Given the description of an element on the screen output the (x, y) to click on. 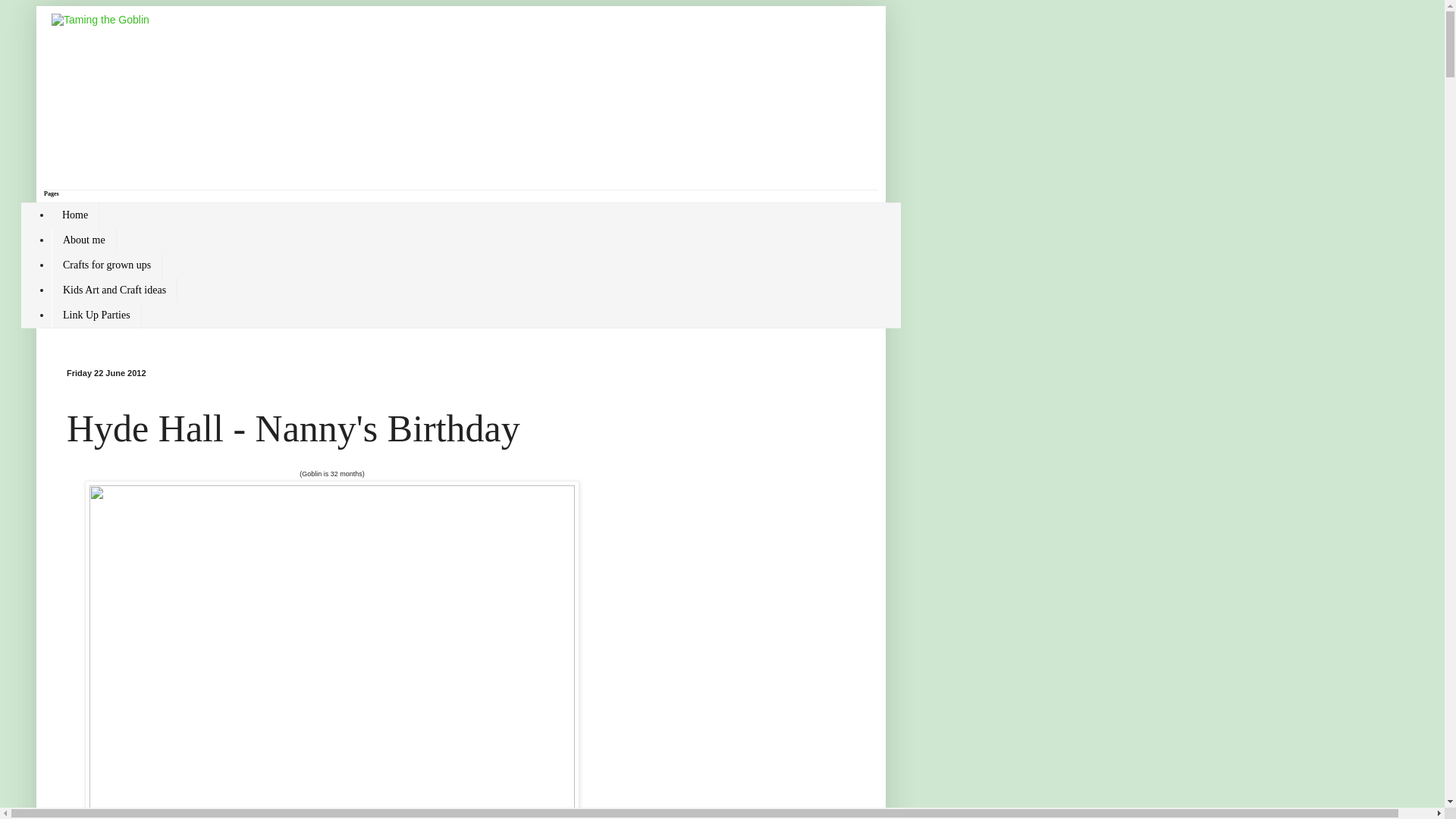
About me (83, 240)
Home (74, 215)
Link Up Parties (95, 314)
Kids Art and Craft ideas (113, 289)
Crafts for grown ups (105, 265)
